Given the description of an element on the screen output the (x, y) to click on. 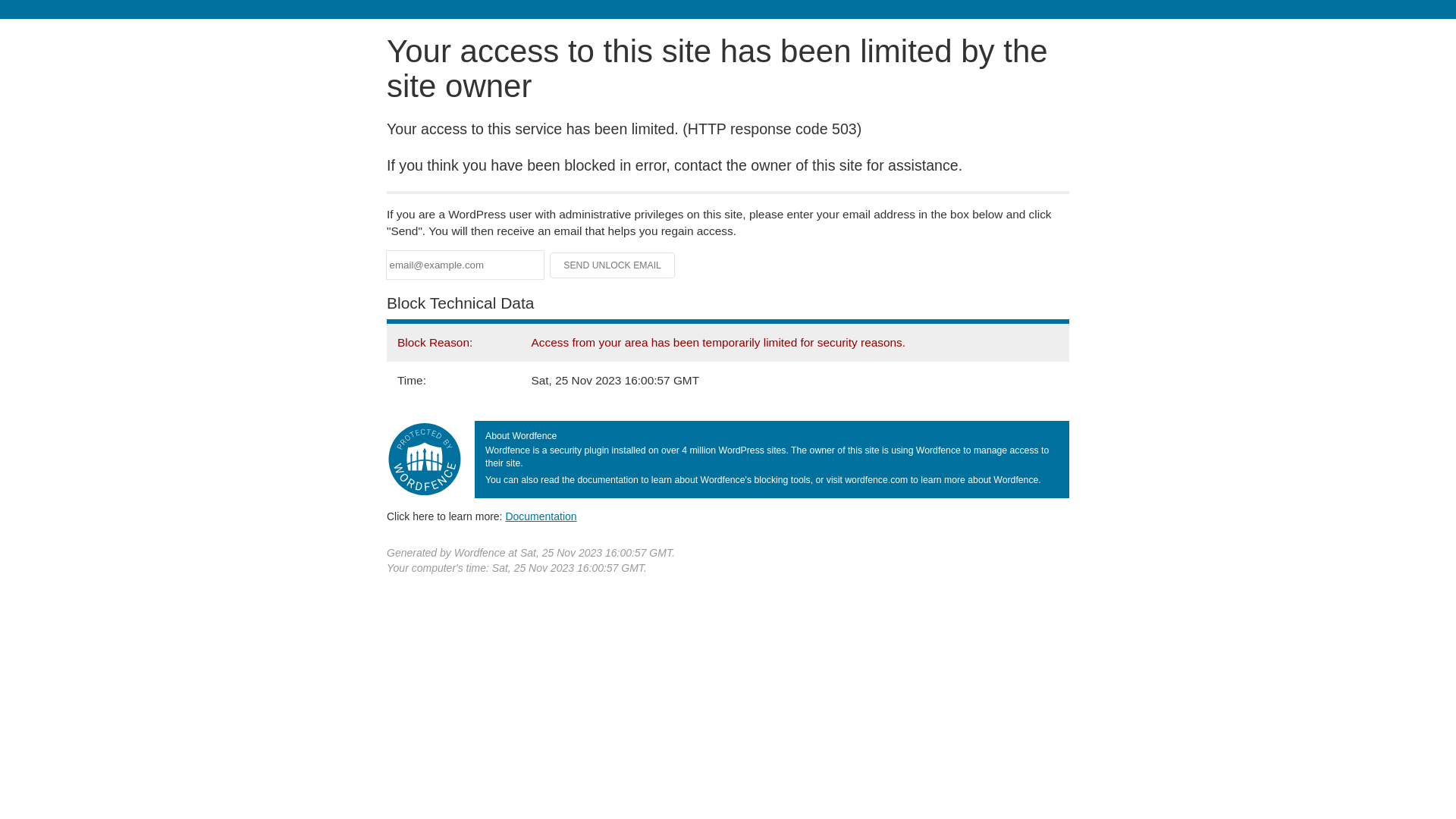
Documentation Element type: text (540, 516)
Send Unlock Email Element type: text (612, 265)
